Given the description of an element on the screen output the (x, y) to click on. 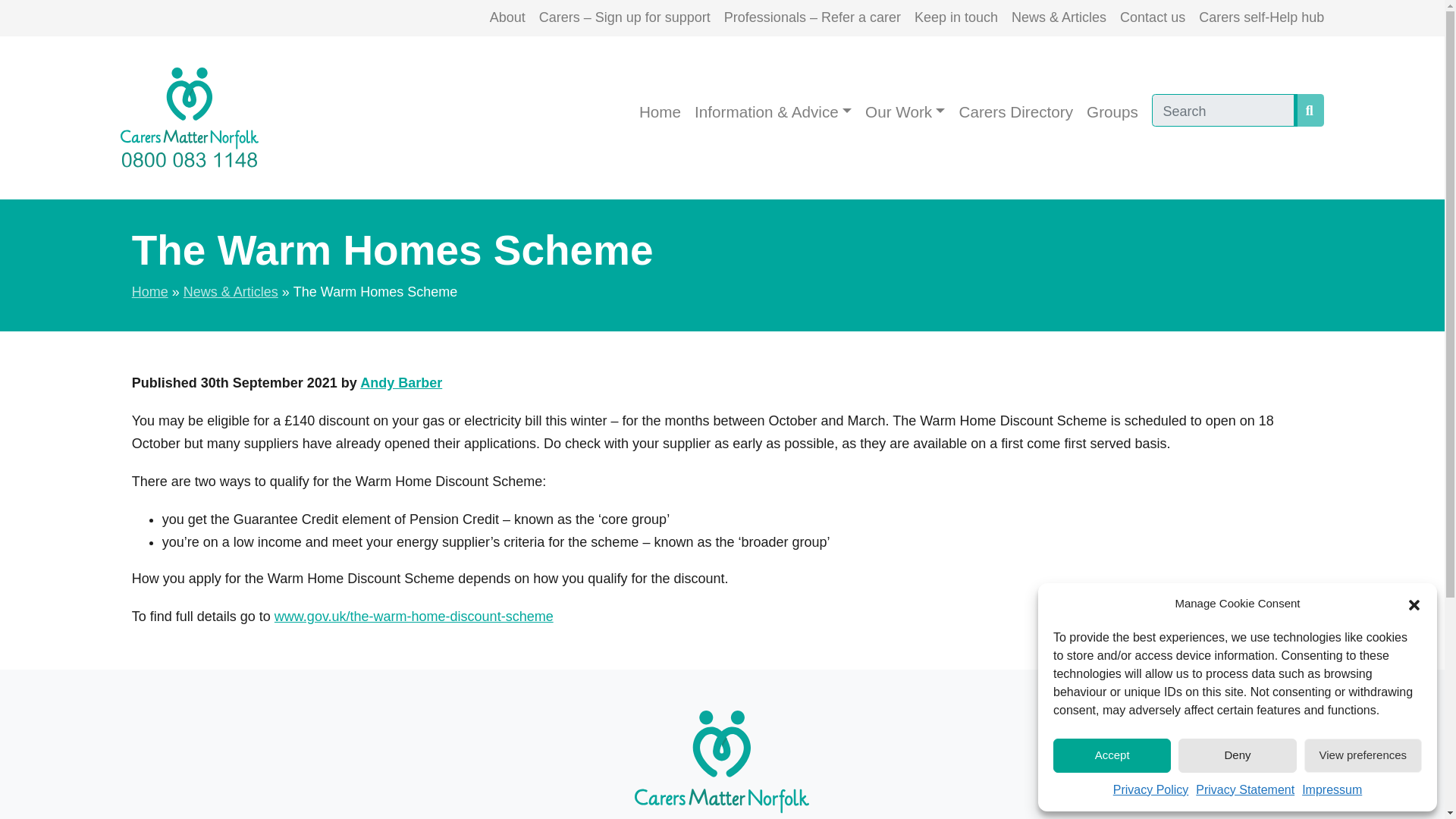
Privacy Policy (1151, 790)
Carers self-Help hub (1260, 18)
Keep in touch (955, 18)
Contact us (1152, 18)
Deny (1236, 755)
Privacy Statement (1244, 790)
Accept (1111, 755)
Impressum (1331, 790)
About (507, 18)
View preferences (1363, 755)
Home (659, 111)
